Given the description of an element on the screen output the (x, y) to click on. 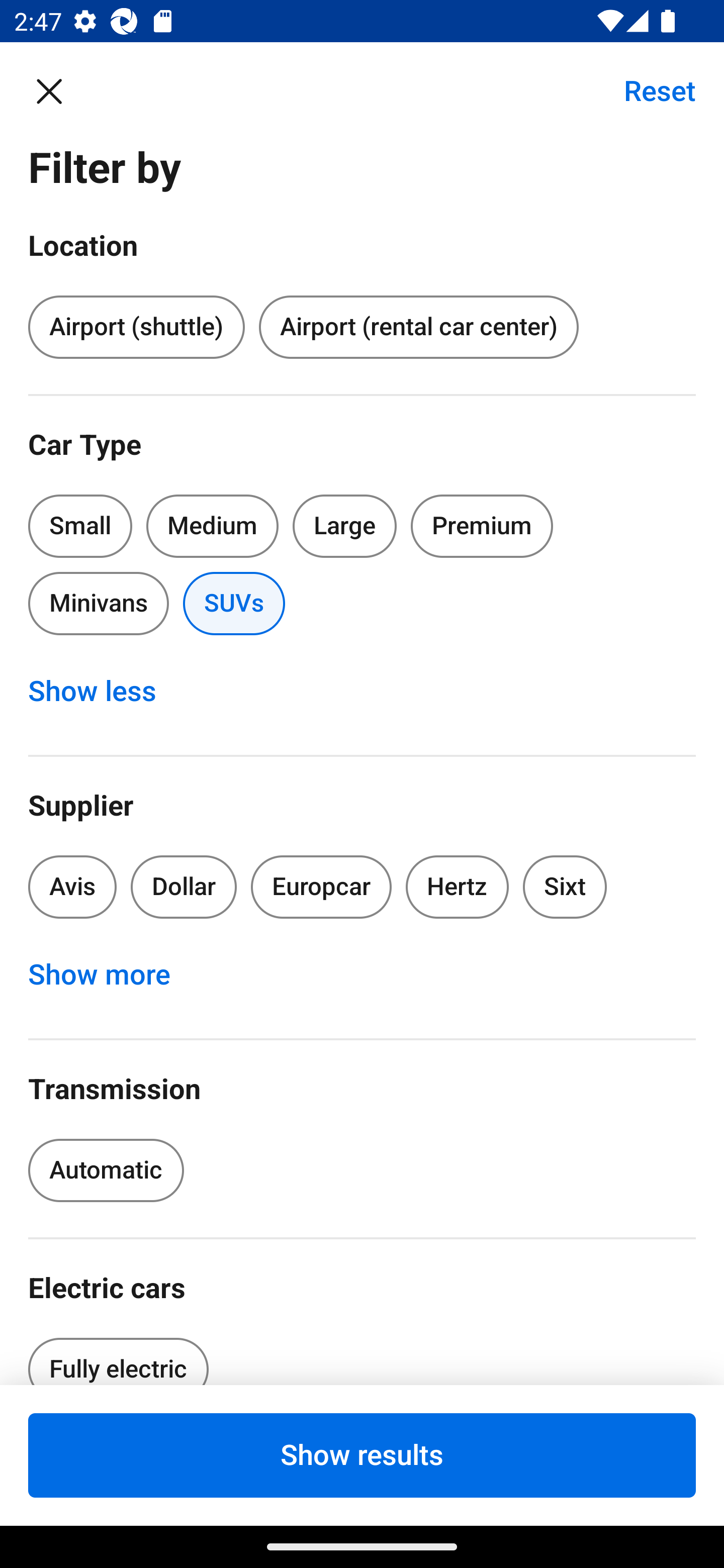
Close (59, 90)
Reset (649, 90)
Airport (shuttle) (136, 327)
Airport (rental car center) (418, 327)
Small (80, 525)
Medium (212, 525)
Large (344, 525)
Premium (482, 525)
Minivans (98, 603)
Show less (102, 691)
Avis (72, 887)
Dollar (183, 887)
Europcar (321, 887)
Hertz (457, 887)
Sixt (564, 887)
Show more (109, 974)
Automatic (105, 1170)
Fully electric (118, 1355)
Show results (361, 1454)
